Given the description of an element on the screen output the (x, y) to click on. 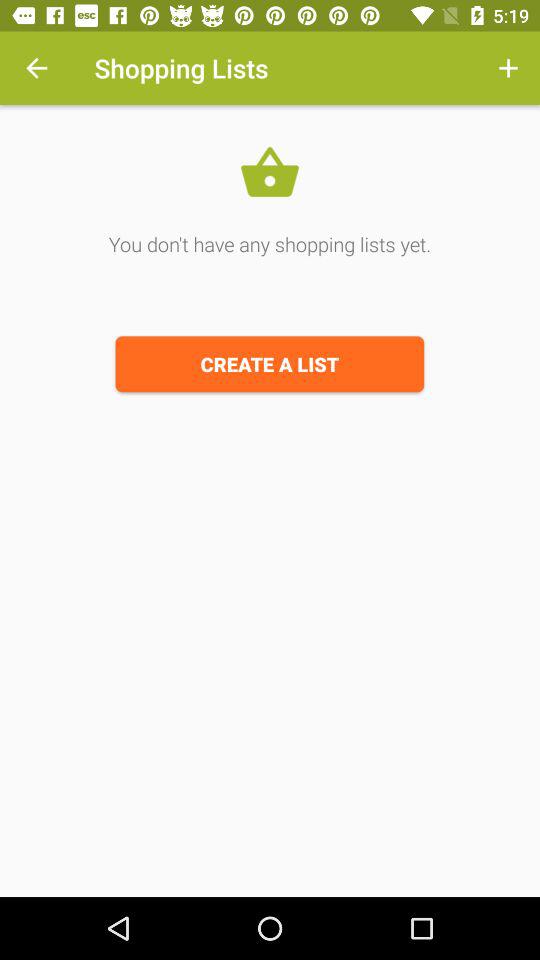
tap the item next to shopping lists item (36, 68)
